Given the description of an element on the screen output the (x, y) to click on. 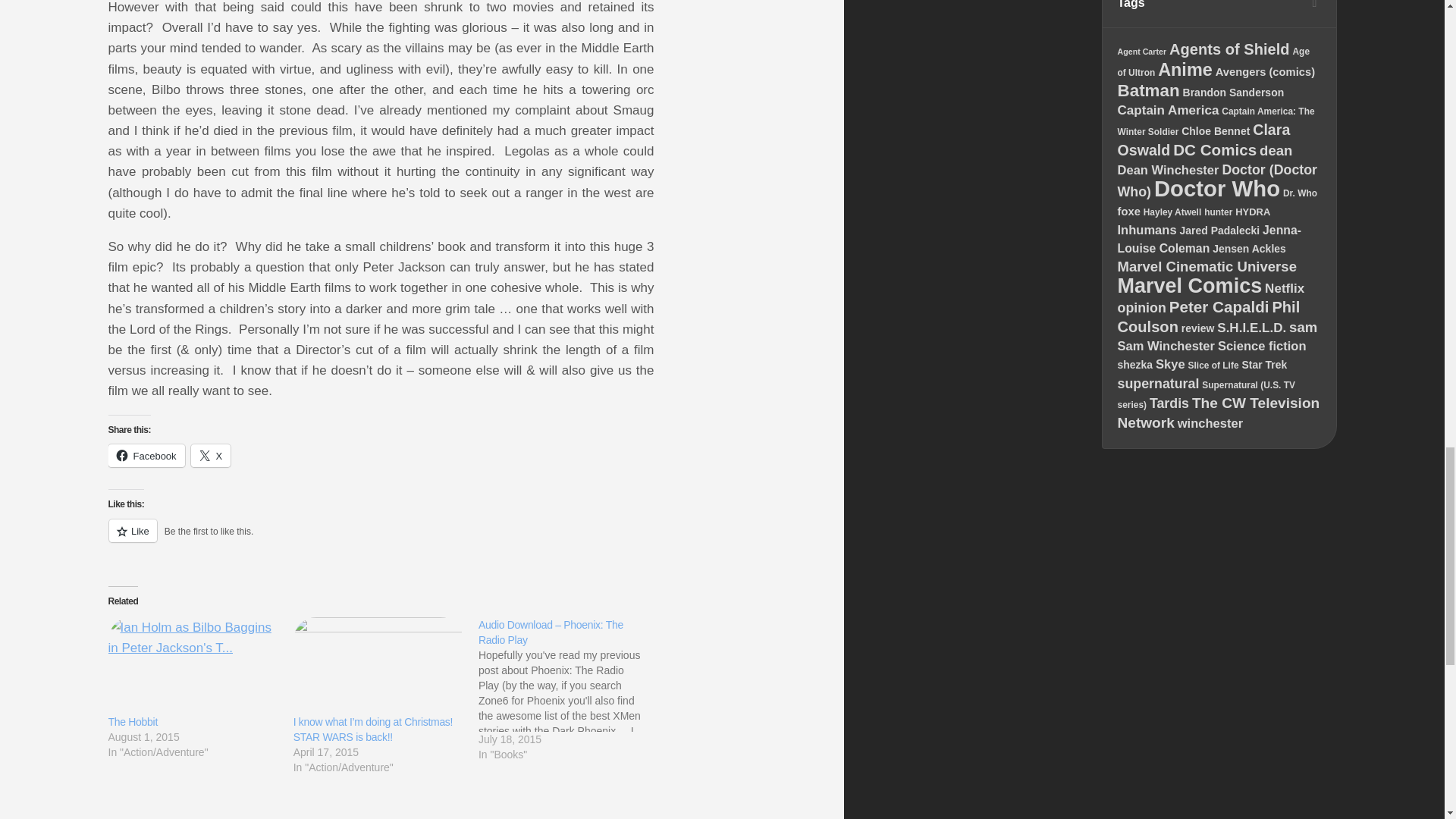
Click to share on Facebook (145, 455)
